Given the description of an element on the screen output the (x, y) to click on. 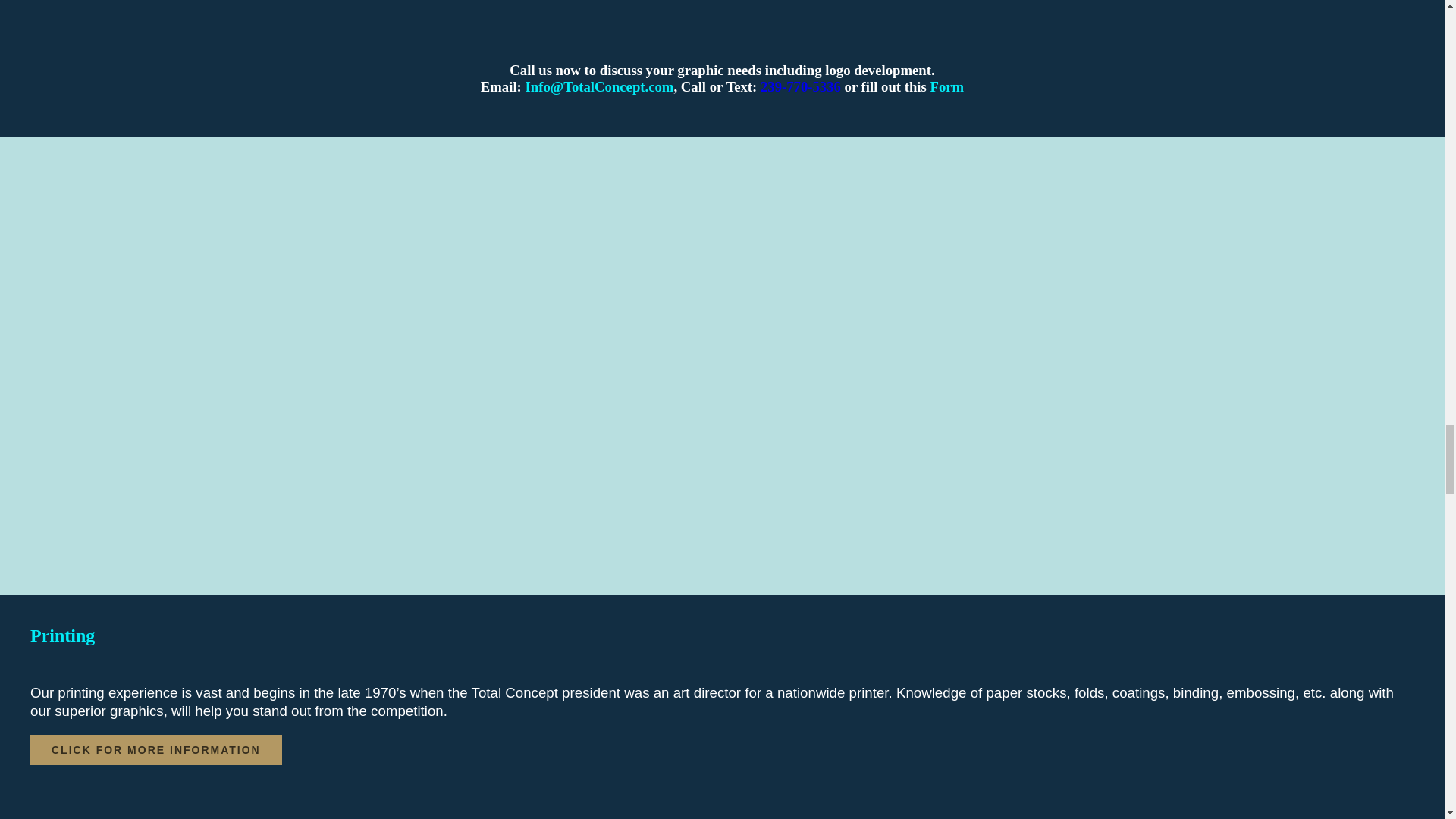
239-770-5336 (800, 86)
Contact Form (946, 86)
Form (946, 86)
CLICK FOR MORE INFORMATION (156, 749)
